Given the description of an element on the screen output the (x, y) to click on. 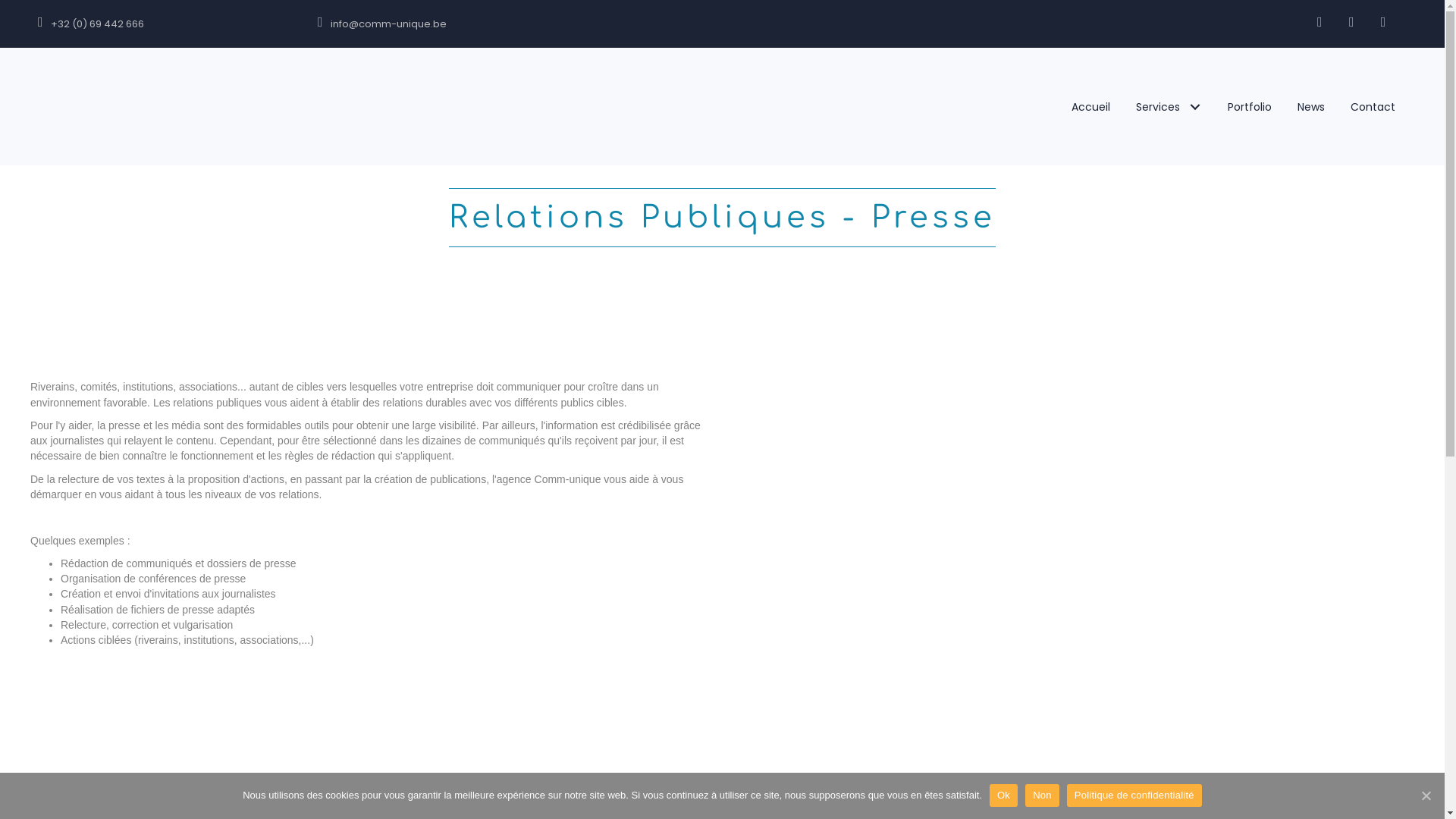
Ok Element type: text (1003, 795)
Email Element type: hover (1383, 21)
info@comm-unique.be Element type: text (477, 23)
Portfolio Element type: text (1249, 106)
Facebook Element type: hover (1319, 21)
Services Element type: text (1168, 106)
presse-relations Element type: hover (1075, 498)
News Element type: text (1311, 106)
Agence Comm-unique Tournai Element type: hover (170, 106)
Accueil Element type: text (1090, 106)
+32 (0) 69 442 666 Element type: text (162, 23)
Non Element type: text (1042, 795)
Google Plus Element type: hover (1351, 21)
Accueil Element type: text (597, 802)
Contact Element type: text (1372, 106)
